Given the description of an element on the screen output the (x, y) to click on. 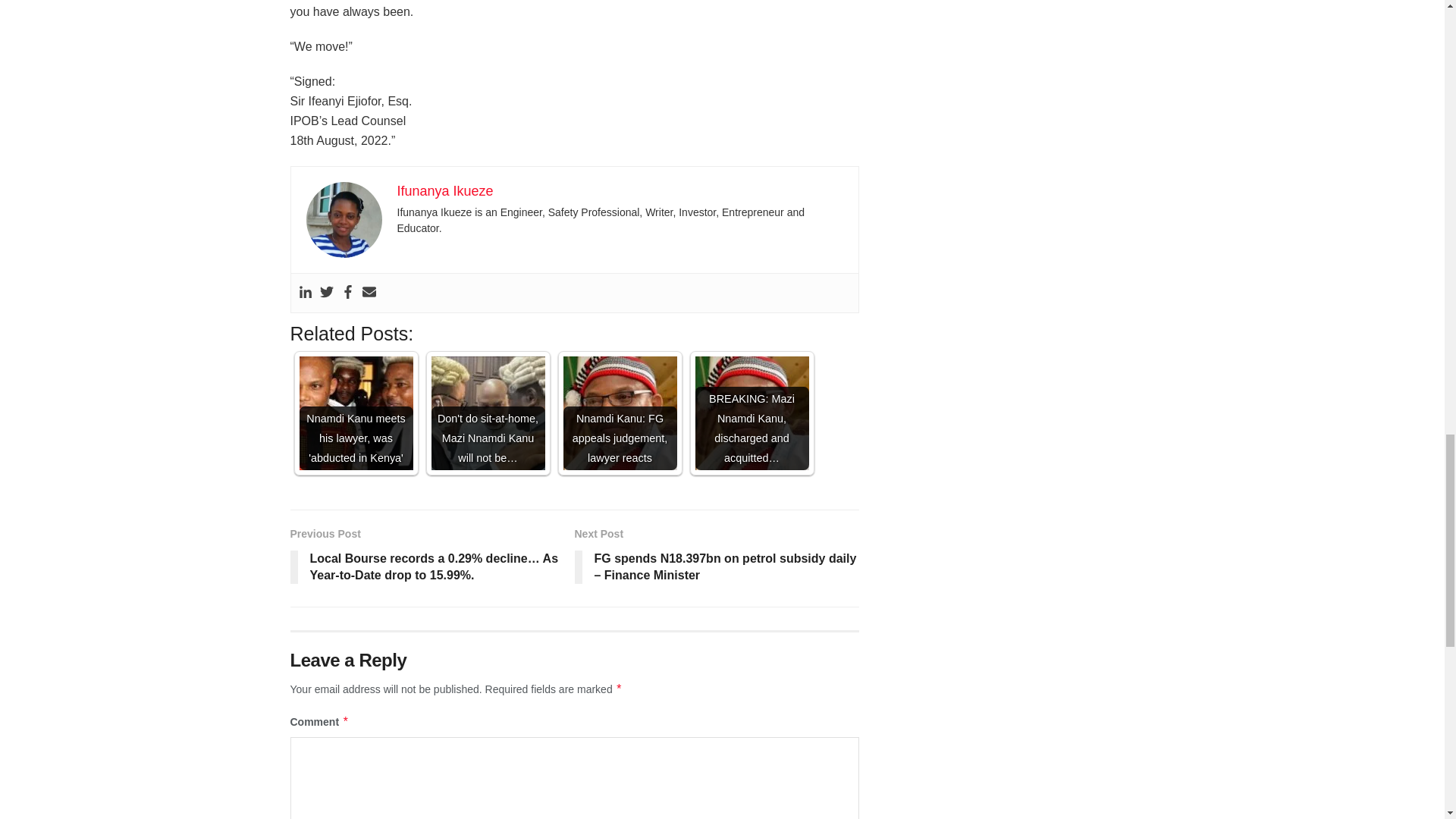
Nnamdi Kanu meets his lawyer, was 'abducted in Kenya' (355, 413)
Nnamdi Kanu: FG appeals judgement, lawyer reacts (619, 413)
